Given the description of an element on the screen output the (x, y) to click on. 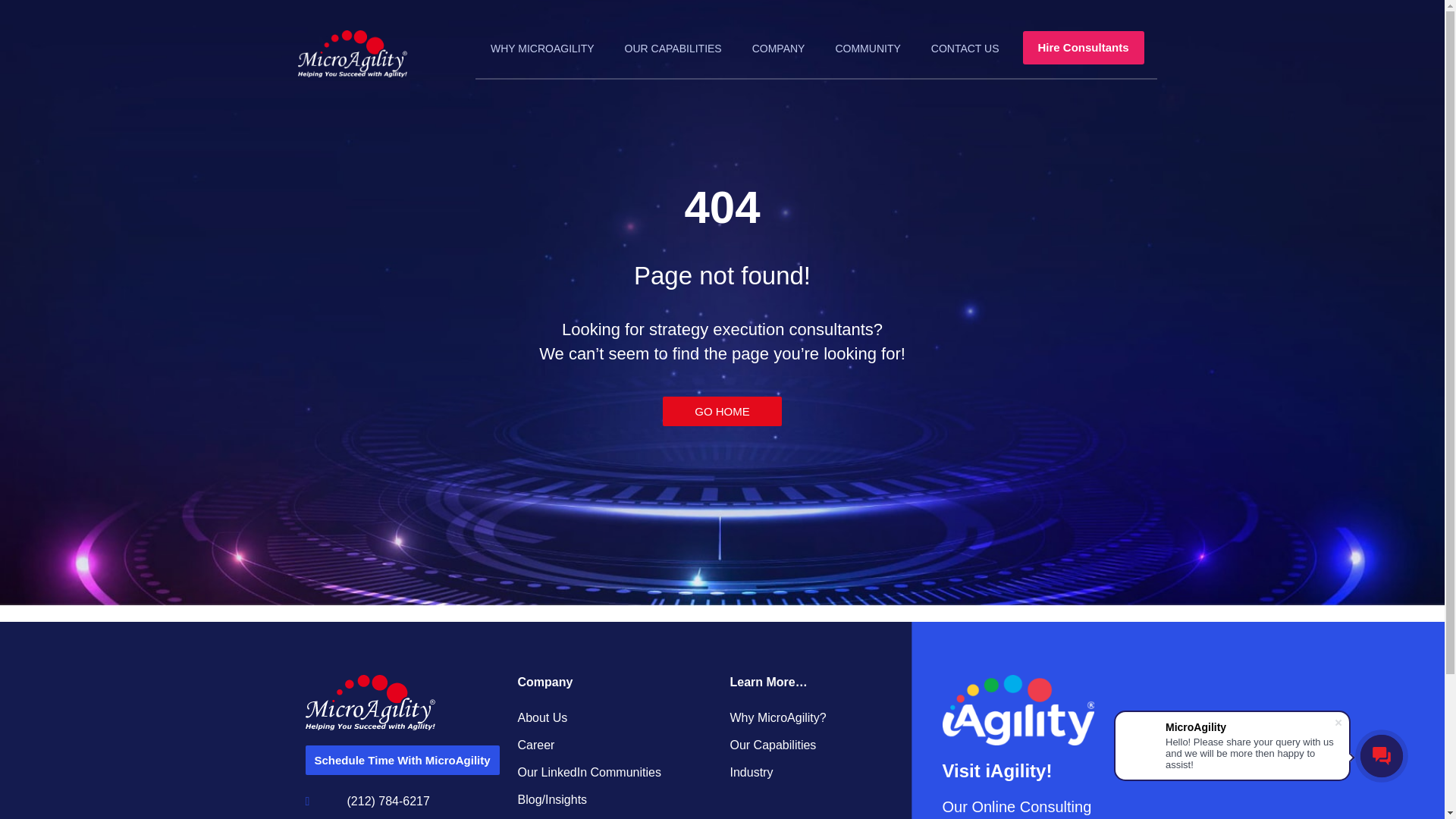
WHY MICROAGILITY (543, 48)
Hire Consultants (1082, 47)
Our LinkedIn Communities (615, 772)
image (1017, 709)
COMMUNITY (867, 48)
COMPANY (778, 48)
GO HOME (721, 410)
Contact Us! (615, 816)
Career (615, 745)
OUR CAPABILITIES (673, 48)
Schedule Time With MicroAgility (401, 759)
About Us (615, 718)
CONTACT US (964, 48)
